Given the description of an element on the screen output the (x, y) to click on. 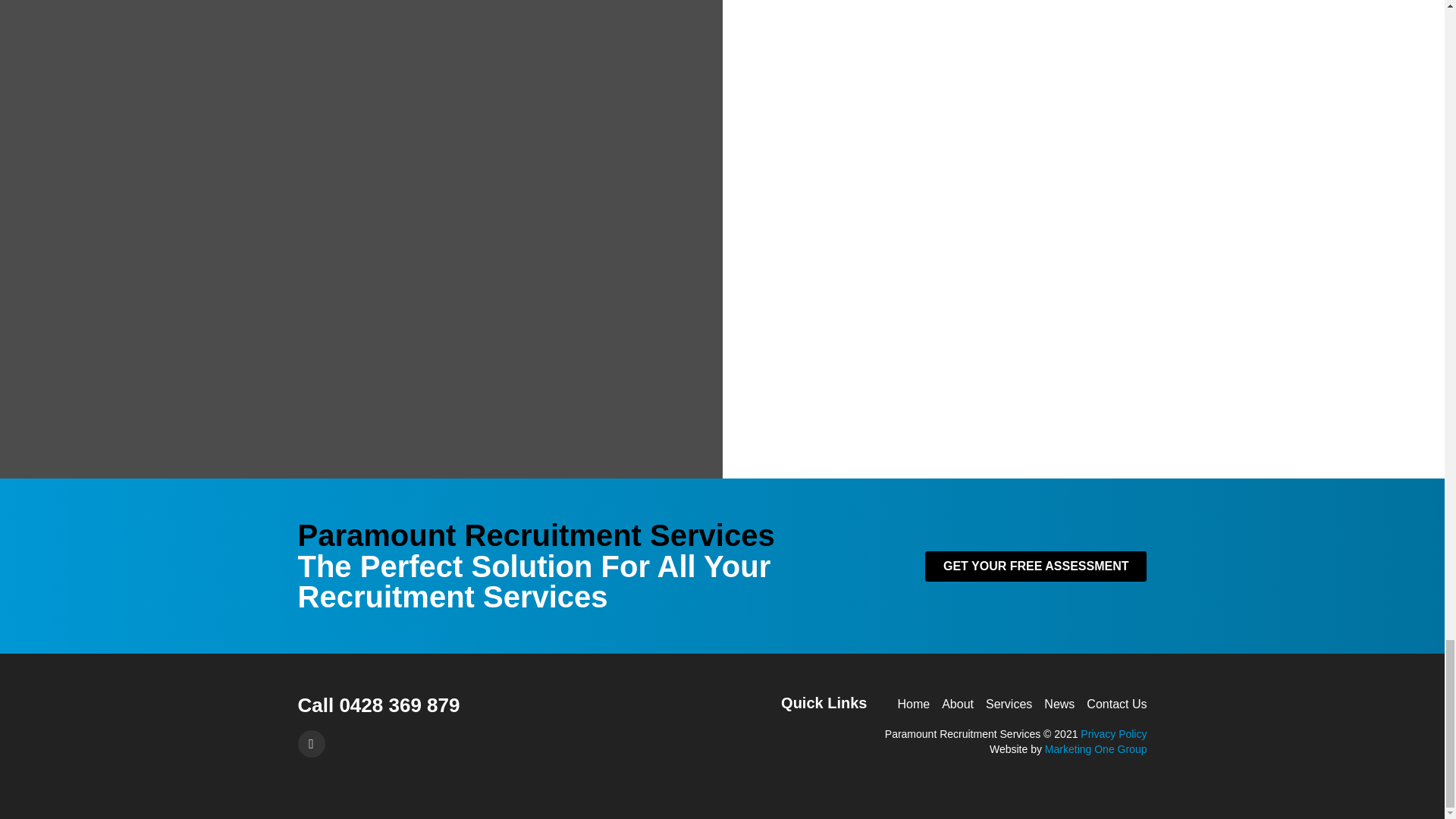
GET YOUR FREE ASSESSMENT (1035, 566)
Marketing One Group (1096, 748)
Privacy Policy (1113, 734)
Contact Us (1116, 704)
Services (1008, 704)
Home (913, 704)
About (958, 704)
News (1058, 704)
